Given the description of an element on the screen output the (x, y) to click on. 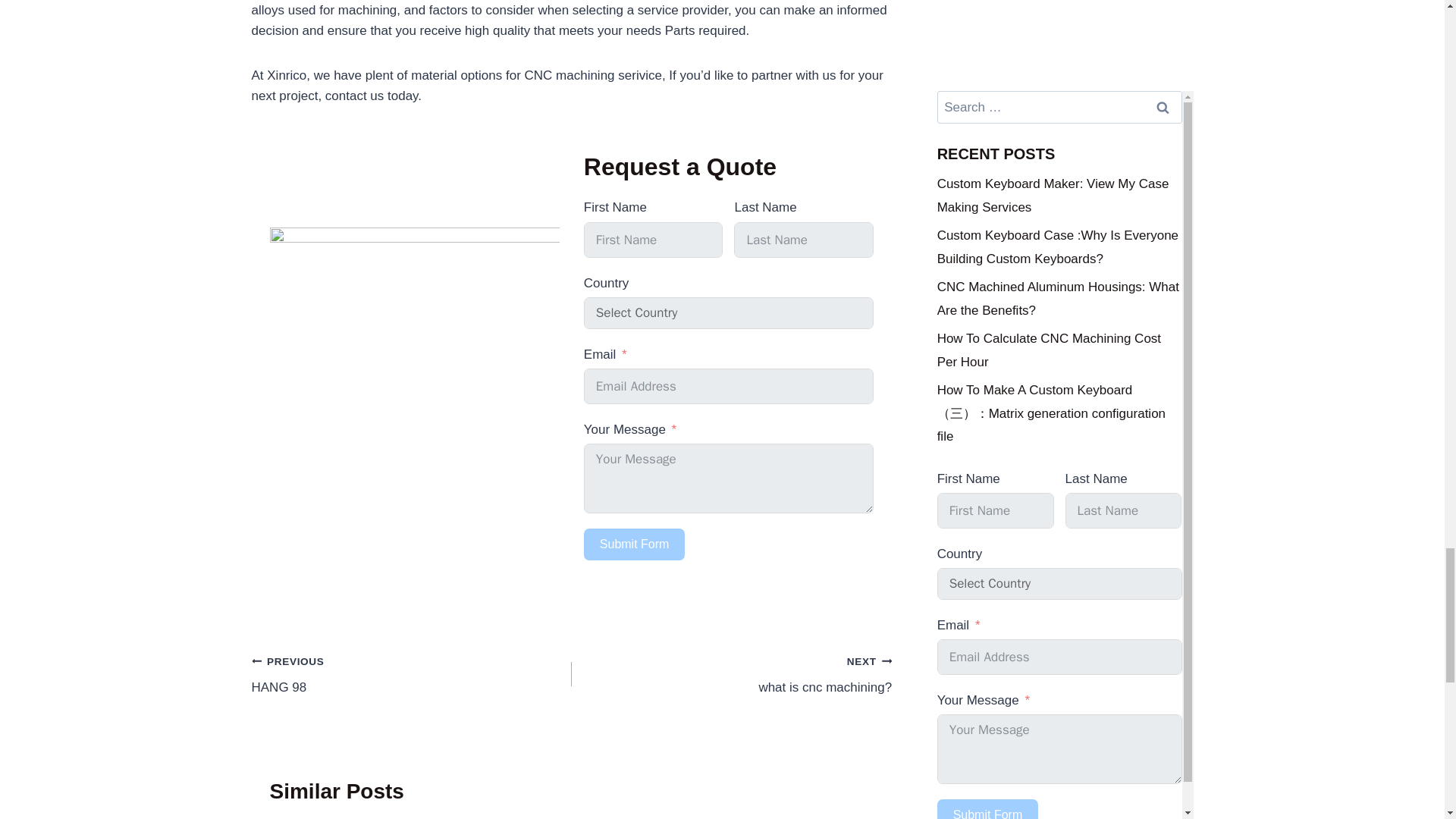
Submit Form (411, 674)
